Given the description of an element on the screen output the (x, y) to click on. 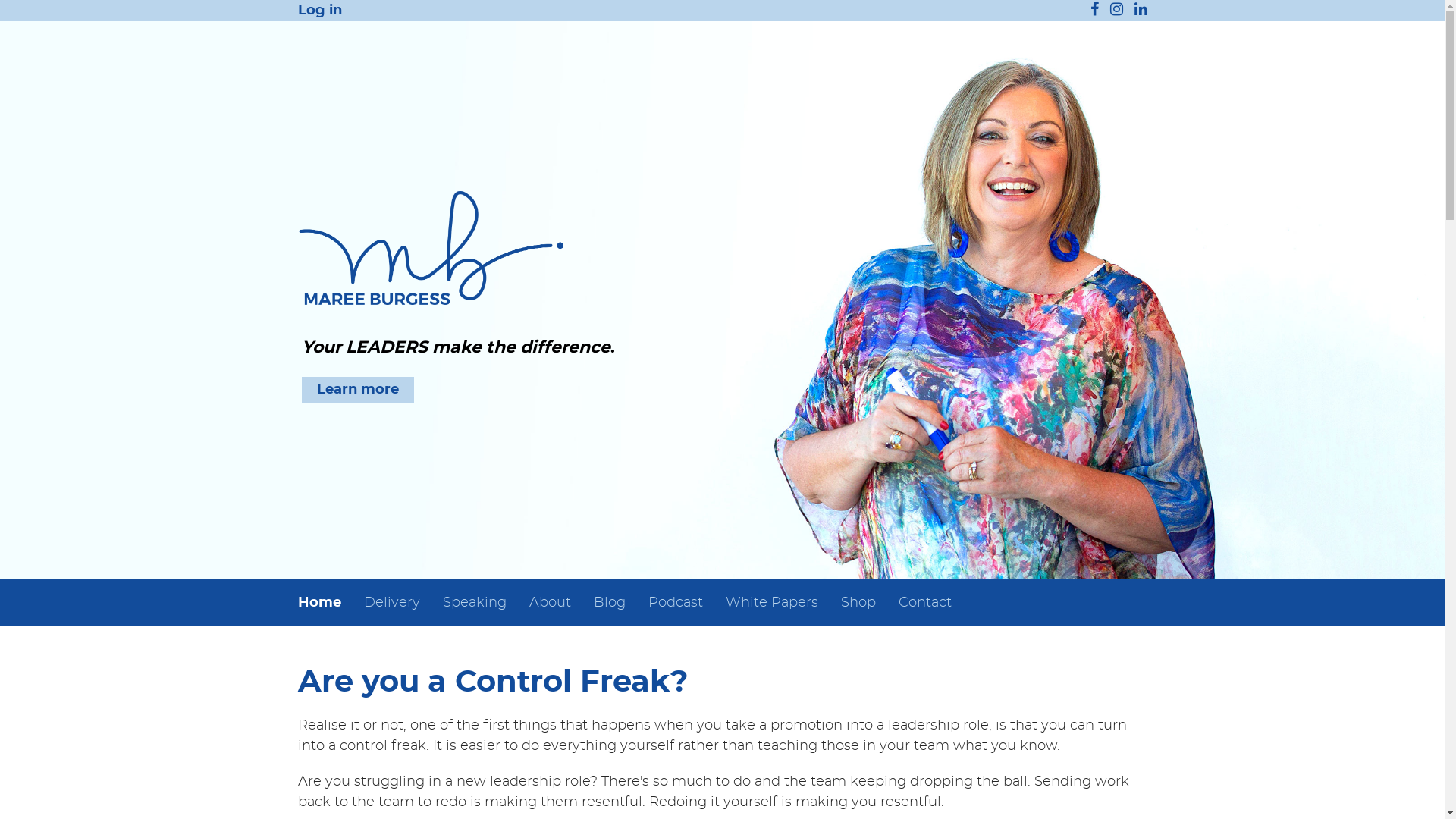
Contact Element type: text (925, 602)
White Papers Element type: text (771, 602)
Podcast Element type: text (675, 602)
Shop Element type: text (858, 602)
About Element type: text (549, 602)
LinkedIn Element type: text (1140, 11)
Speaking Element type: text (473, 602)
Learn more Element type: text (357, 389)
Delivery Element type: text (390, 602)
Instagram Element type: text (1116, 11)
Facebook Element type: text (1094, 11)
Blog Element type: text (609, 602)
Home Element type: text (324, 602)
Log in Element type: text (319, 10)
